Given the description of an element on the screen output the (x, y) to click on. 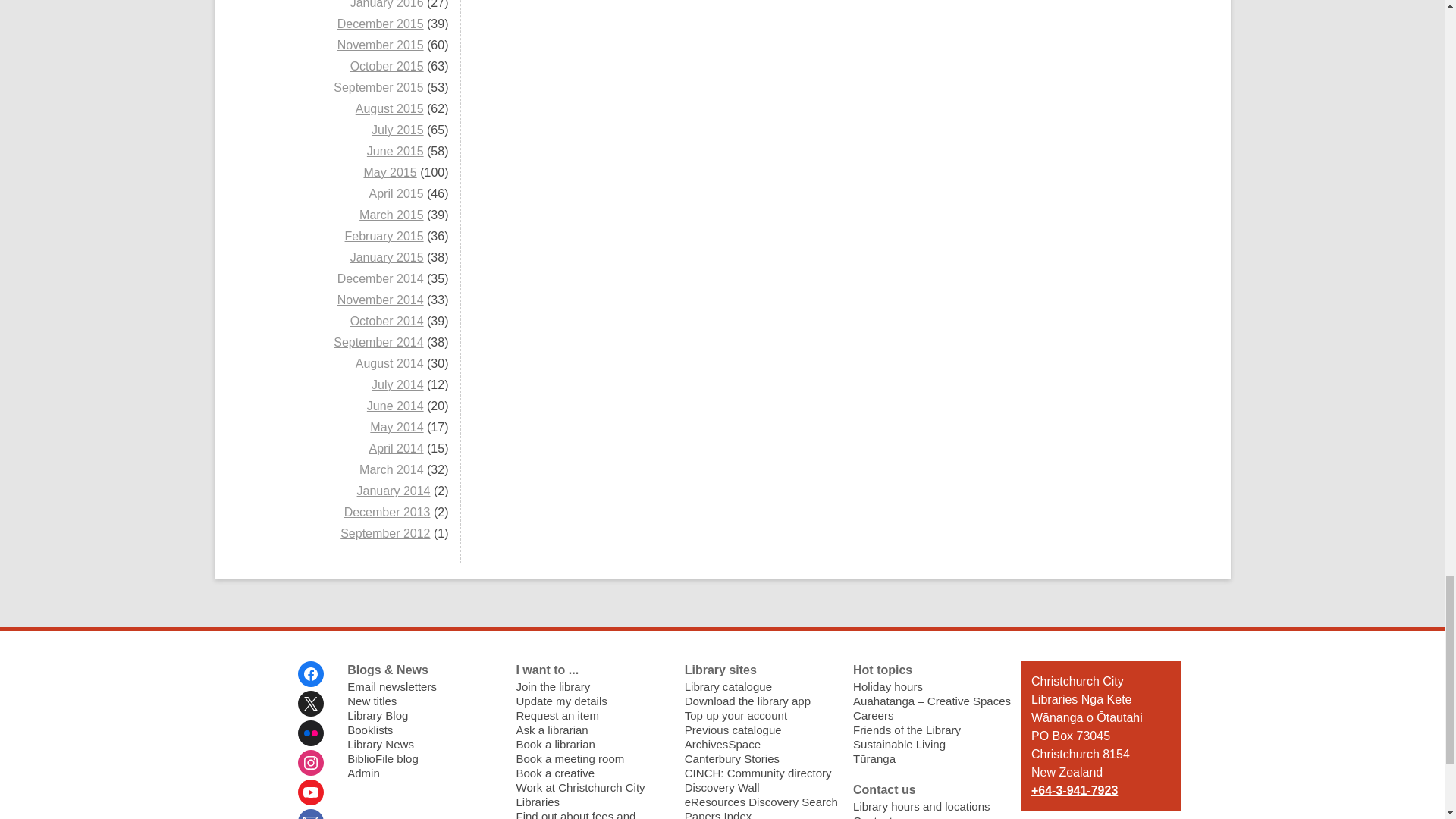
All our locations and hours (921, 806)
